Given the description of an element on the screen output the (x, y) to click on. 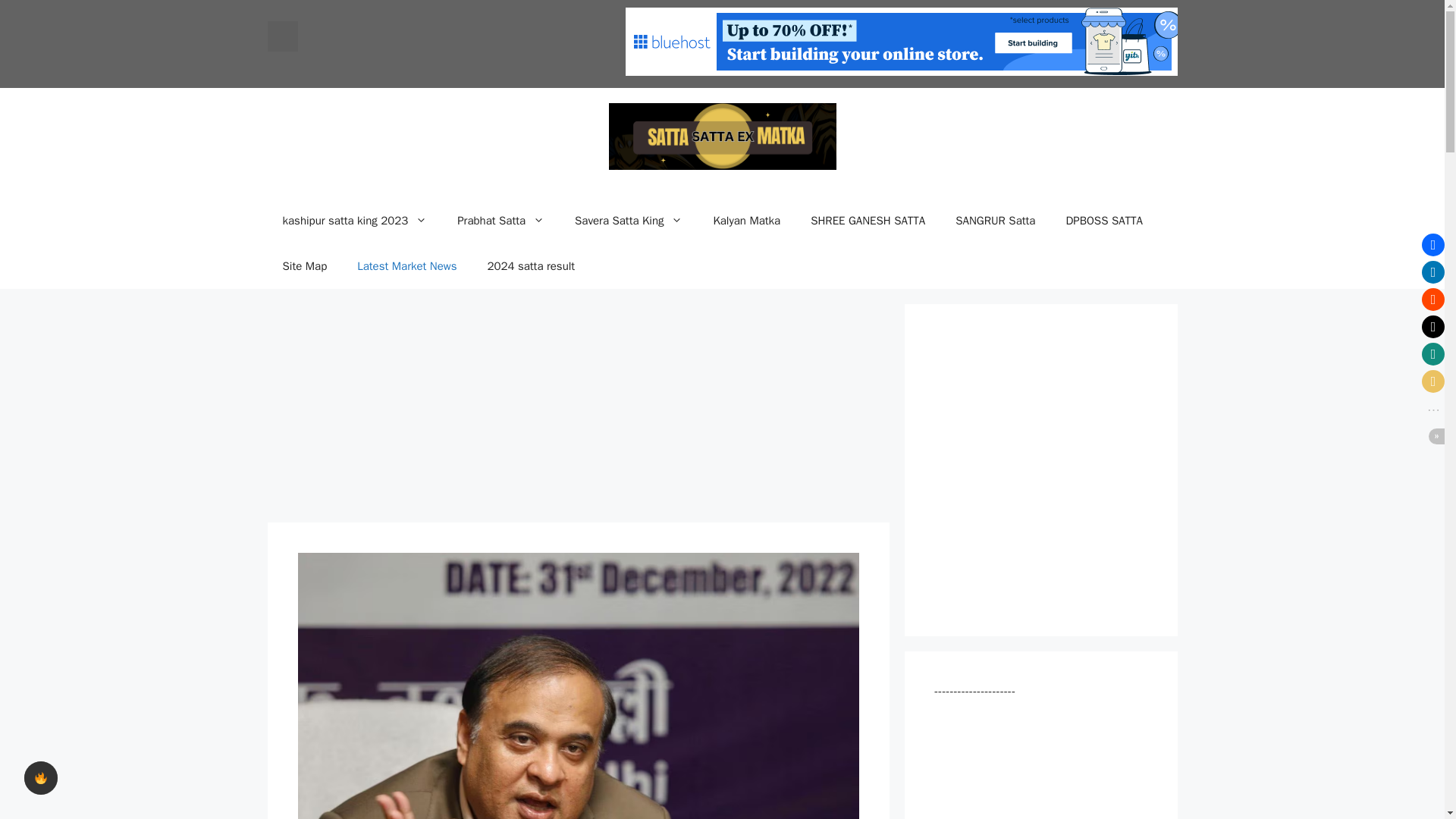
SHREE GANESH SATTA (867, 220)
Latest Market News (406, 266)
kashipur satta king 2023 (354, 220)
Prabhat Satta (500, 220)
Site Map (304, 266)
2024 satta result (530, 266)
SANGRUR Satta (994, 220)
Kalyan Matka (745, 220)
DPBOSS SATTA (1103, 220)
Advertisement (577, 409)
Savera Satta King (628, 220)
